Given the description of an element on the screen output the (x, y) to click on. 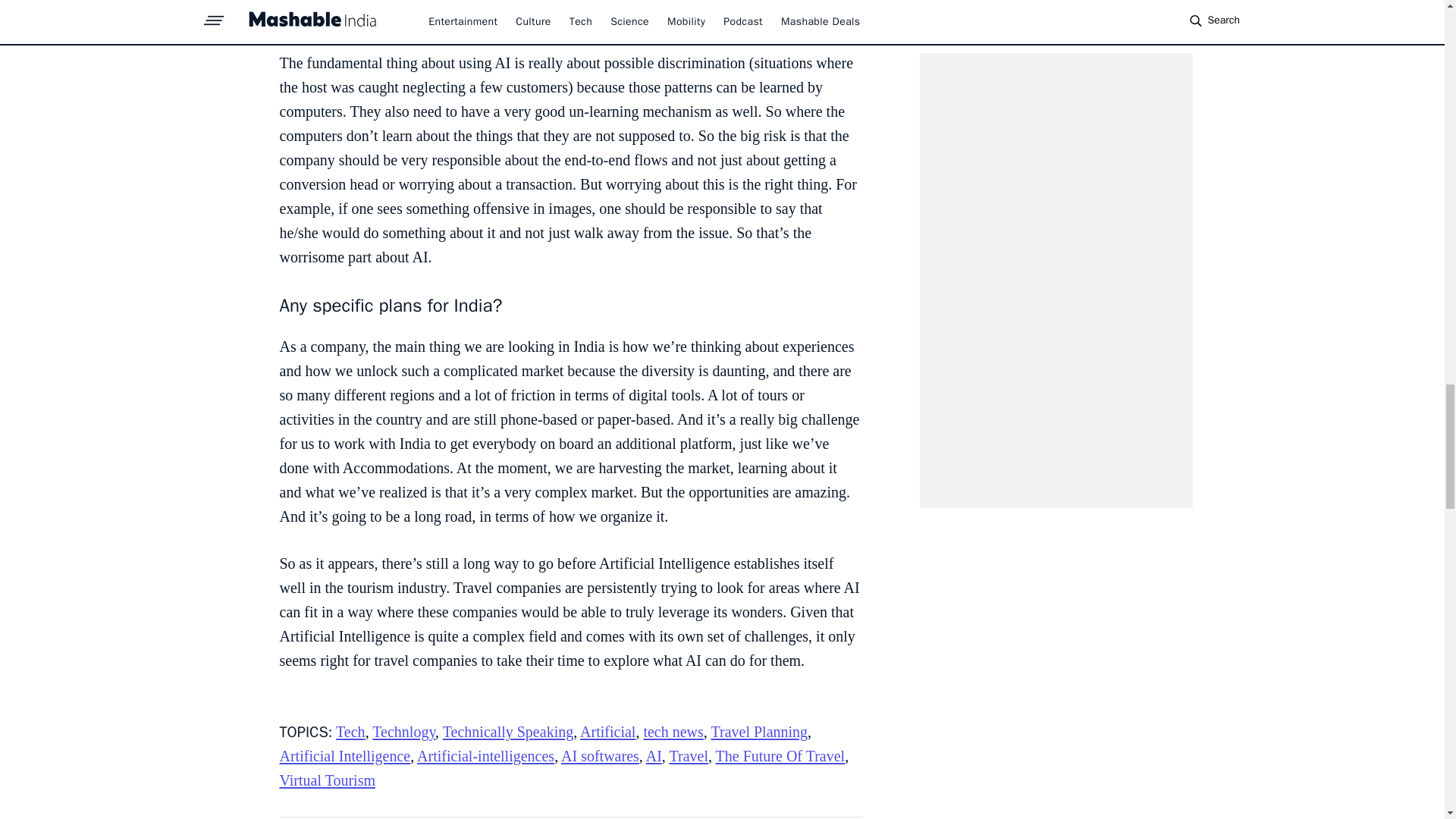
Technically Speaking (507, 731)
Artificial Intelligence (344, 755)
Artificial-intelligences (485, 755)
Travel (687, 755)
Virtual Tourism (326, 780)
The Future Of Travel (780, 755)
AI (654, 755)
AI softwares (599, 755)
Artificial (606, 731)
Technlogy (403, 731)
Tech (350, 731)
Travel Planning (759, 731)
tech news (673, 731)
